Given the description of an element on the screen output the (x, y) to click on. 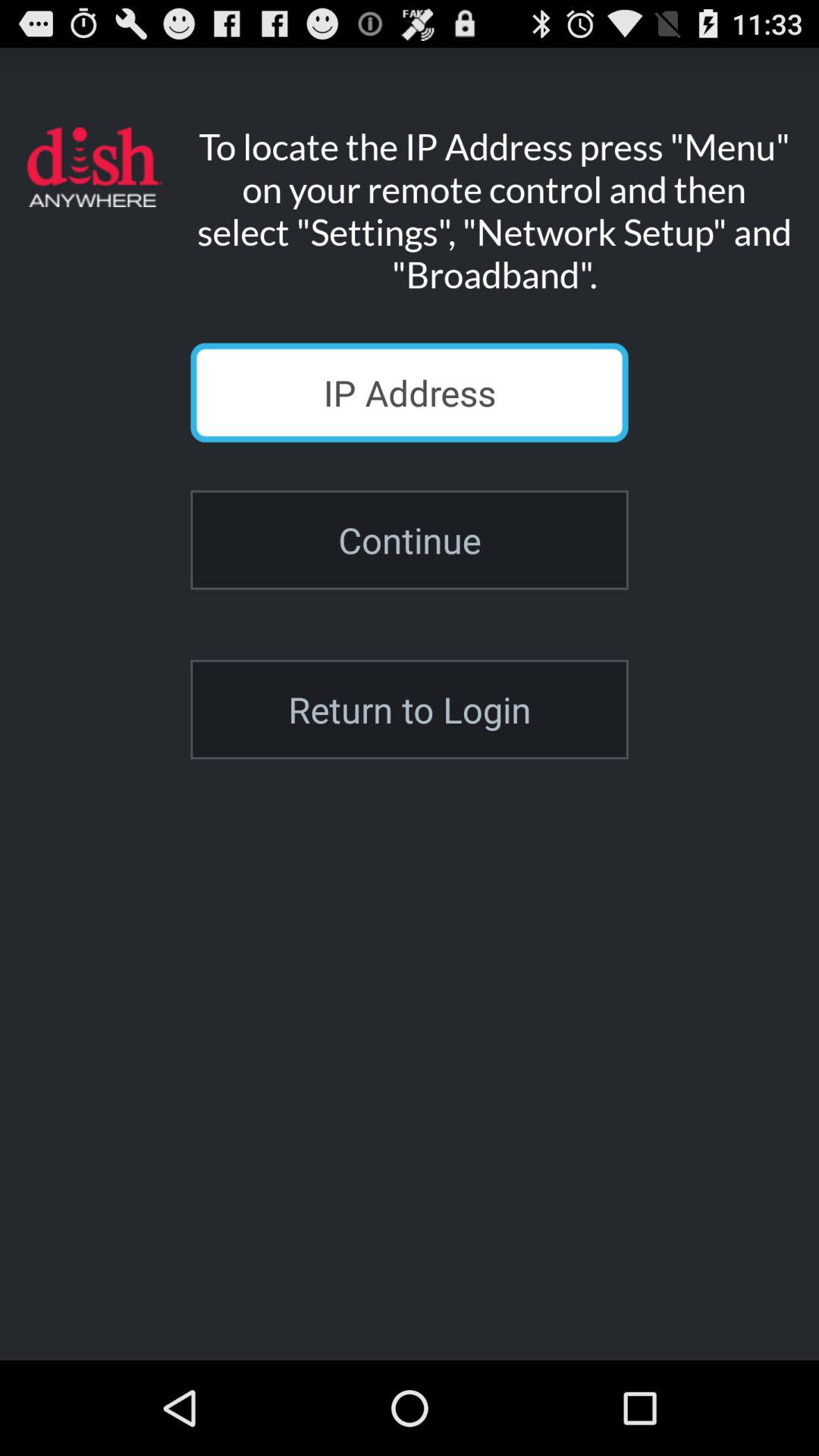
tap the item above return to login item (409, 539)
